Given the description of an element on the screen output the (x, y) to click on. 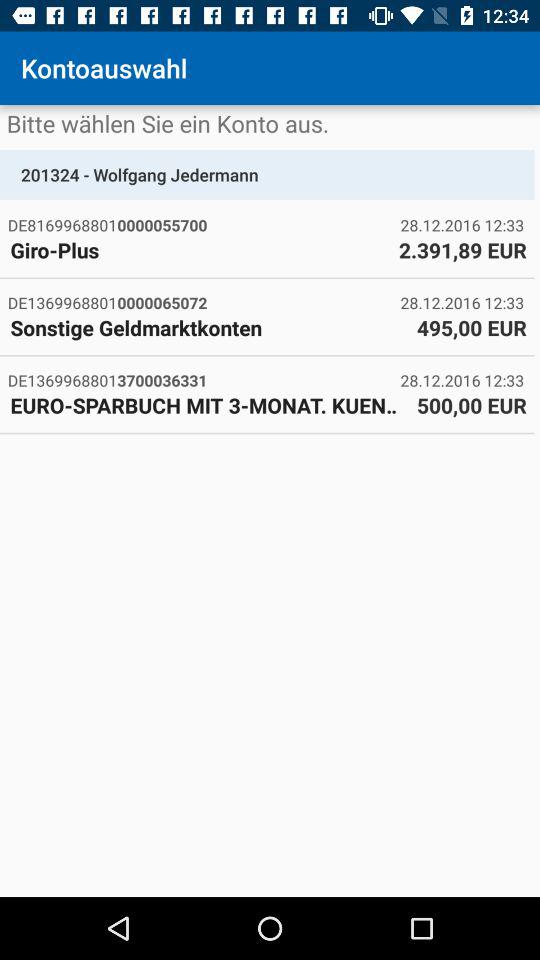
turn off icon next to the giro-plus (462, 249)
